Given the description of an element on the screen output the (x, y) to click on. 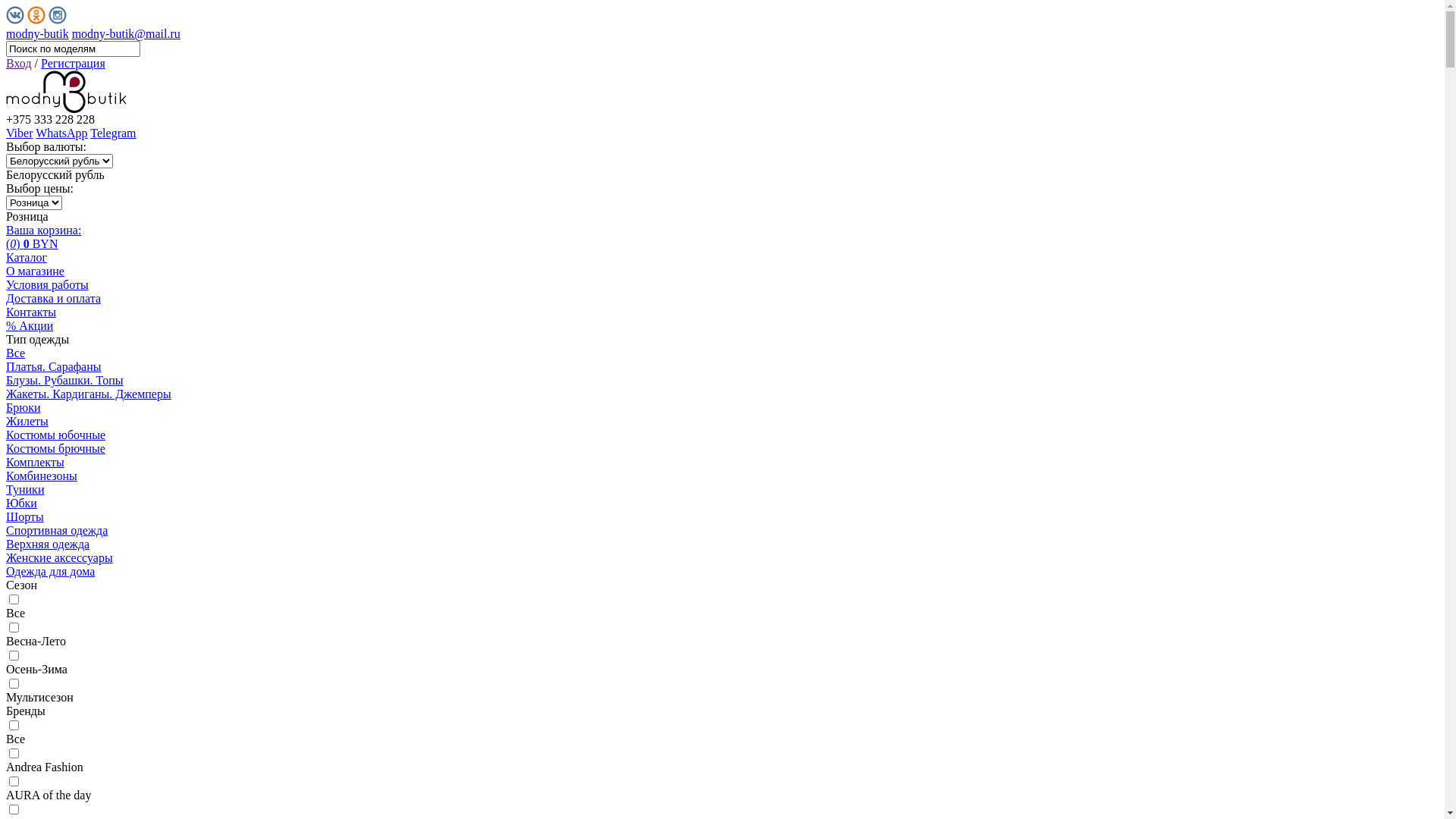
WhatsApp Element type: text (61, 132)
modny-butik@mail.ru Element type: text (126, 33)
Telegram Element type: text (112, 132)
Viber Element type: text (19, 132)
modny-butik Element type: text (37, 33)
